Given the description of an element on the screen output the (x, y) to click on. 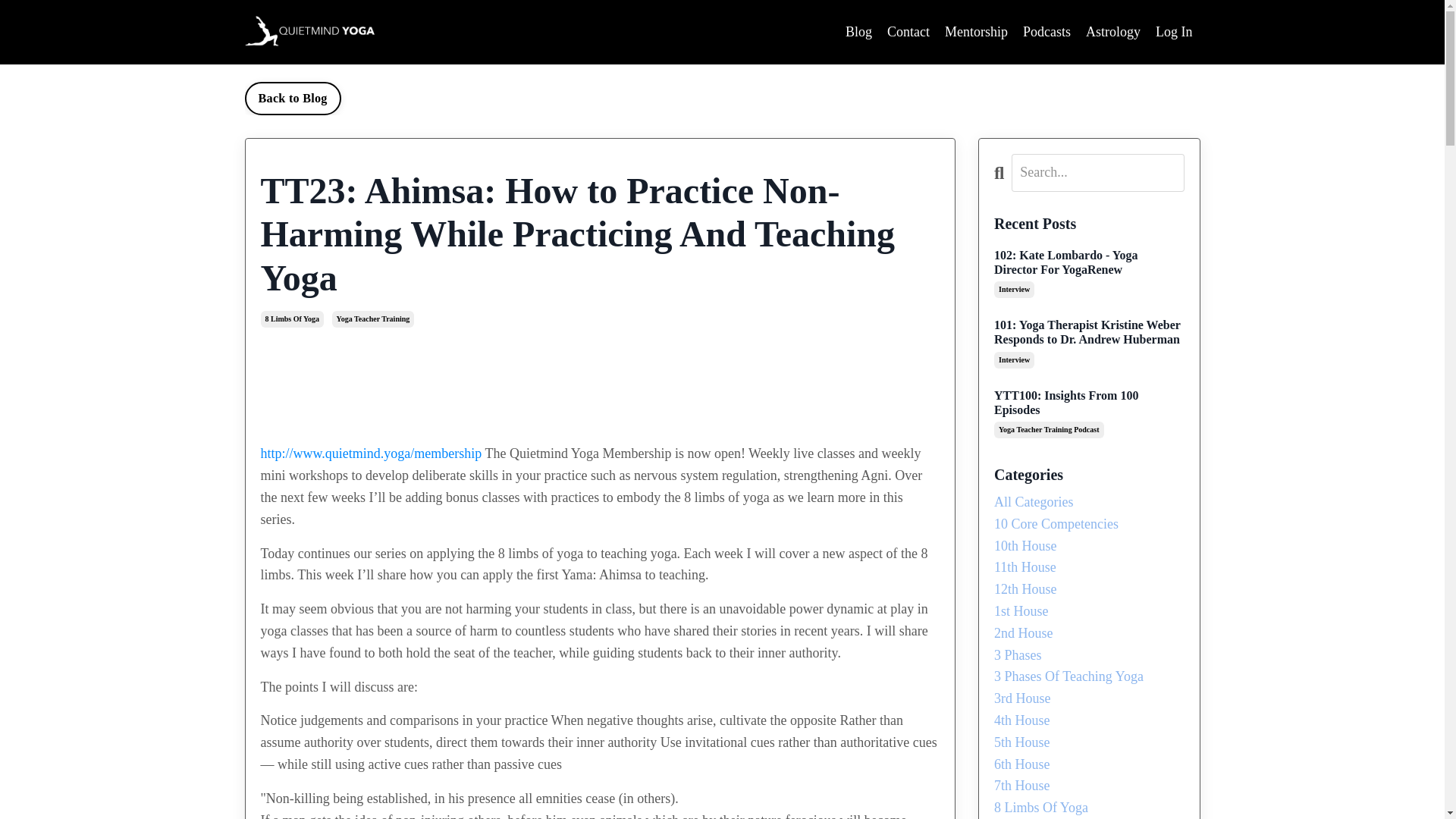
4th House (1089, 721)
11th House (1089, 567)
Contact (908, 32)
Interview (1013, 360)
7th House (1089, 785)
3 Phases Of Teaching Yoga (1089, 676)
2nd House (1089, 633)
Back to Blog (292, 98)
Yoga Teacher Training (372, 319)
Blog (858, 32)
